Given the description of an element on the screen output the (x, y) to click on. 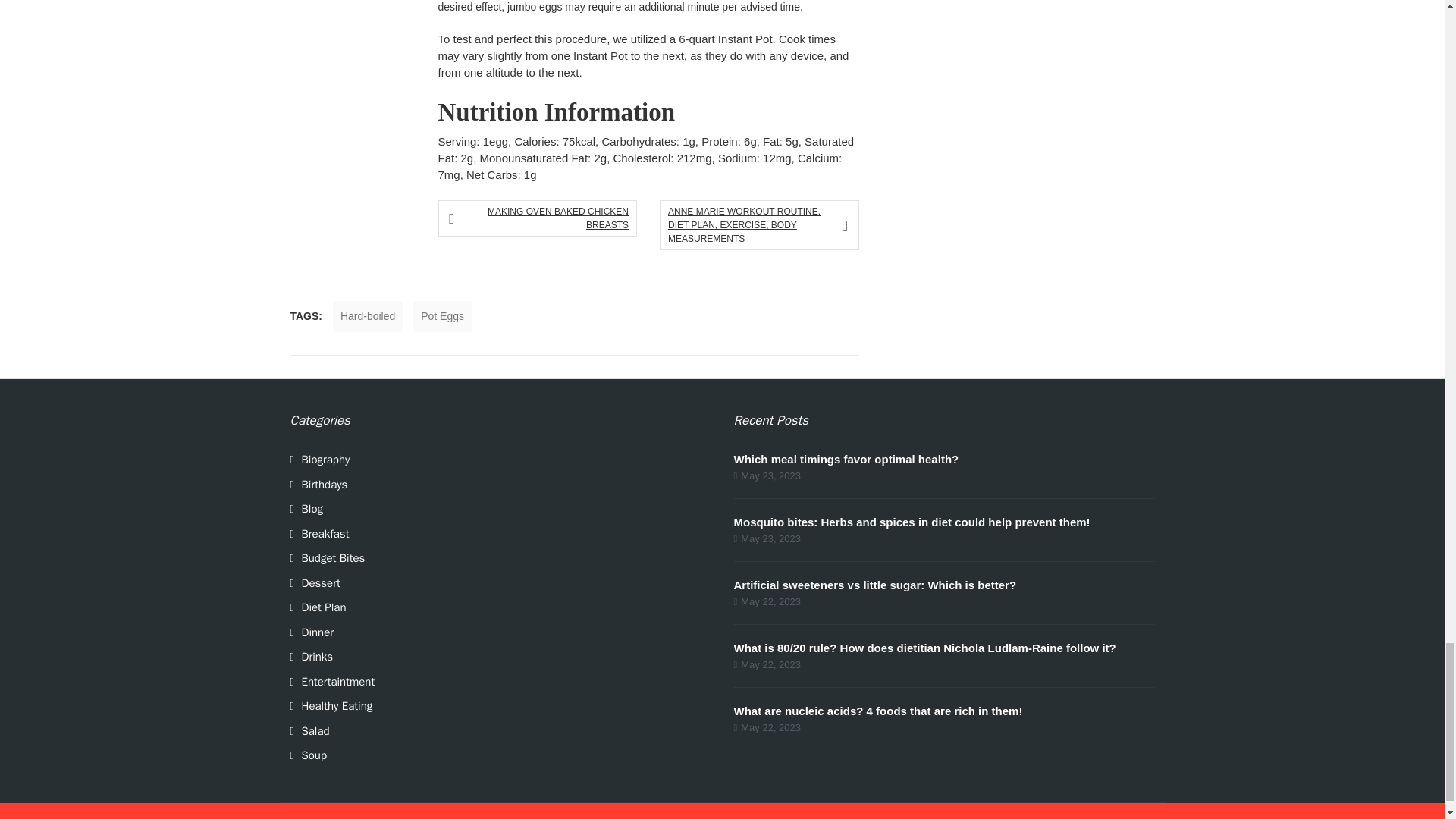
MAKING OVEN BAKED CHICKEN BREASTS (541, 217)
Pot Eggs (442, 316)
Hard-boiled (368, 316)
